Given the description of an element on the screen output the (x, y) to click on. 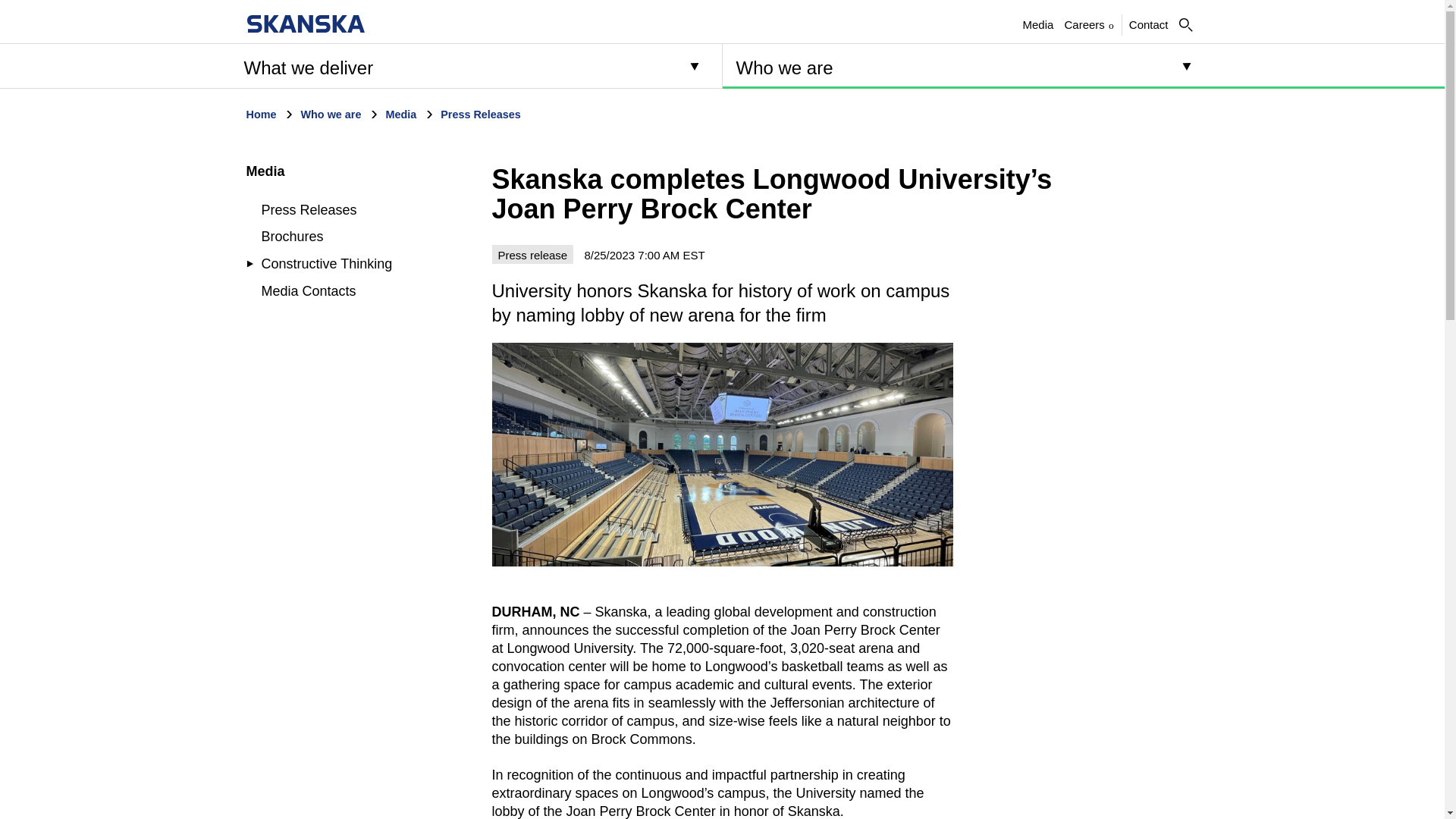
Joan Perry Brock Center (722, 454)
Contact (1149, 24)
Media (1149, 24)
Skanska in the US (264, 171)
Media (305, 24)
Careers (1037, 24)
